Given the description of an element on the screen output the (x, y) to click on. 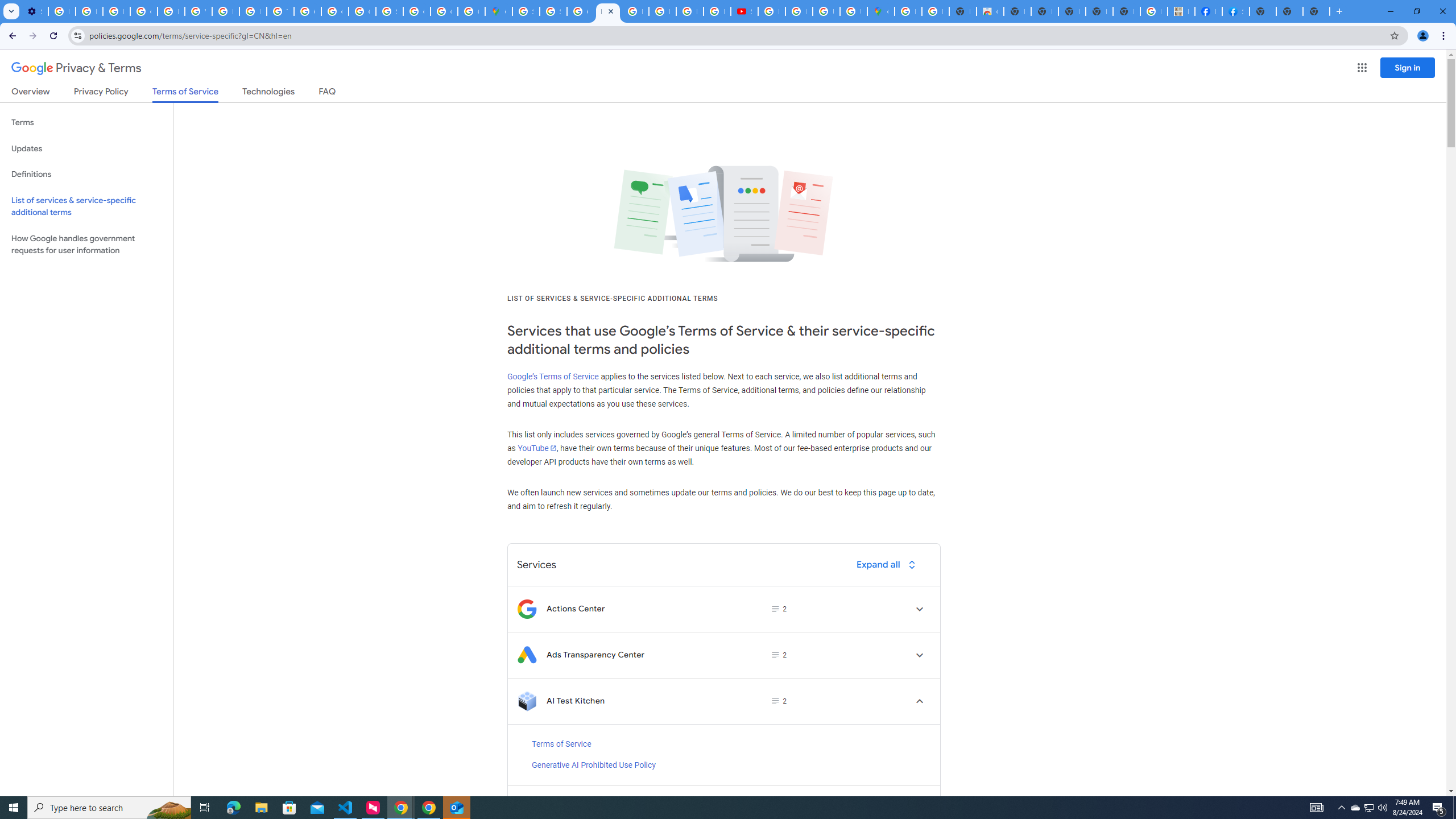
Privacy Help Center - Policies Help (662, 11)
New Tab (1316, 11)
Delete photos & videos - Computer - Google Photos Help (61, 11)
